Given the description of an element on the screen output the (x, y) to click on. 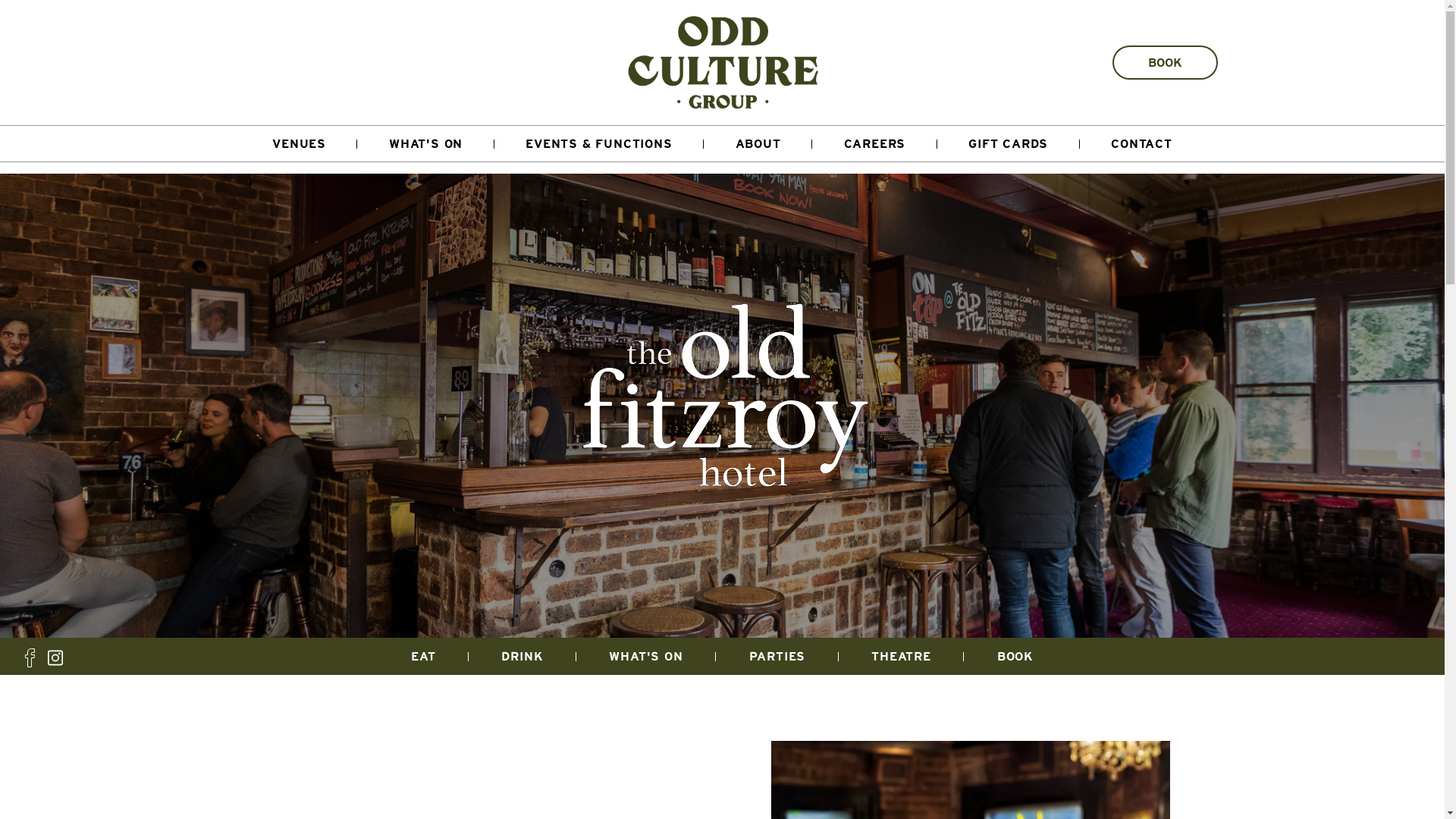
EVENTS & FUNCTIONS Element type: text (598, 143)
BOOK Element type: text (1164, 62)
DRINK Element type: text (522, 655)
EAT Element type: text (422, 655)
CAREERS Element type: text (874, 143)
WHAT'S ON Element type: text (425, 143)
PARTIES Element type: text (776, 655)
GIFT CARDS Element type: text (1008, 143)
BOOK Element type: text (1014, 655)
CONTACT Element type: text (1141, 143)
VENUES Element type: text (299, 143)
THEATRE Element type: text (901, 655)
WHAT'S ON Element type: text (645, 655)
ABOUT Element type: text (757, 143)
